Given the description of an element on the screen output the (x, y) to click on. 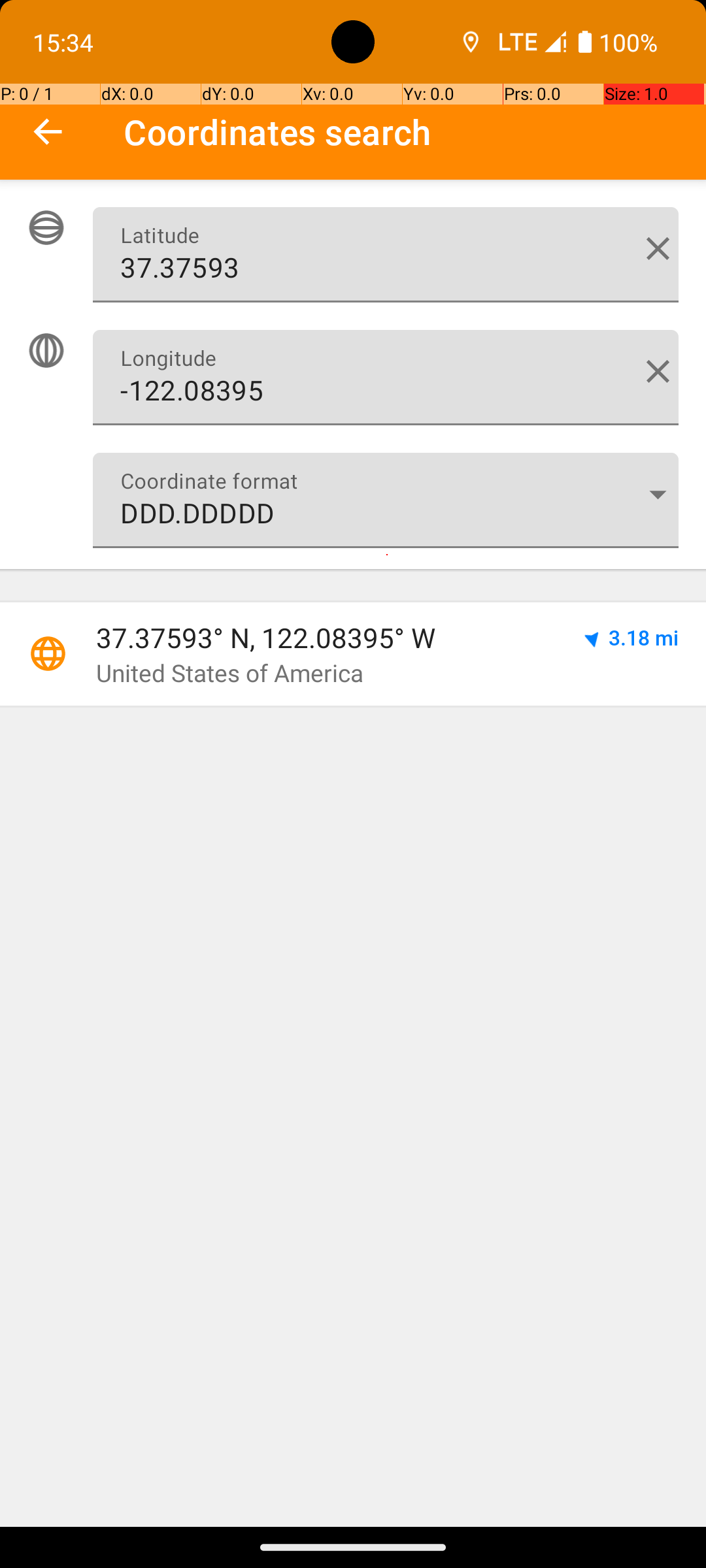
Coordinates search Element type: android.widget.TextView (414, 131)
37.37593 Element type: android.widget.EditText (385, 254)
-122.08395 Element type: android.widget.EditText (385, 377)
DDD.DDDDD Element type: android.widget.EditText (385, 500)
Coordinate format Element type: android.widget.ImageButton (657, 493)
37.37593° N, 122.08395° W Element type: android.widget.TextView (324, 636)
3.18 mi Element type: android.widget.TextView (643, 637)
United States of America Element type: android.widget.TextView (229, 672)
